Given the description of an element on the screen output the (x, y) to click on. 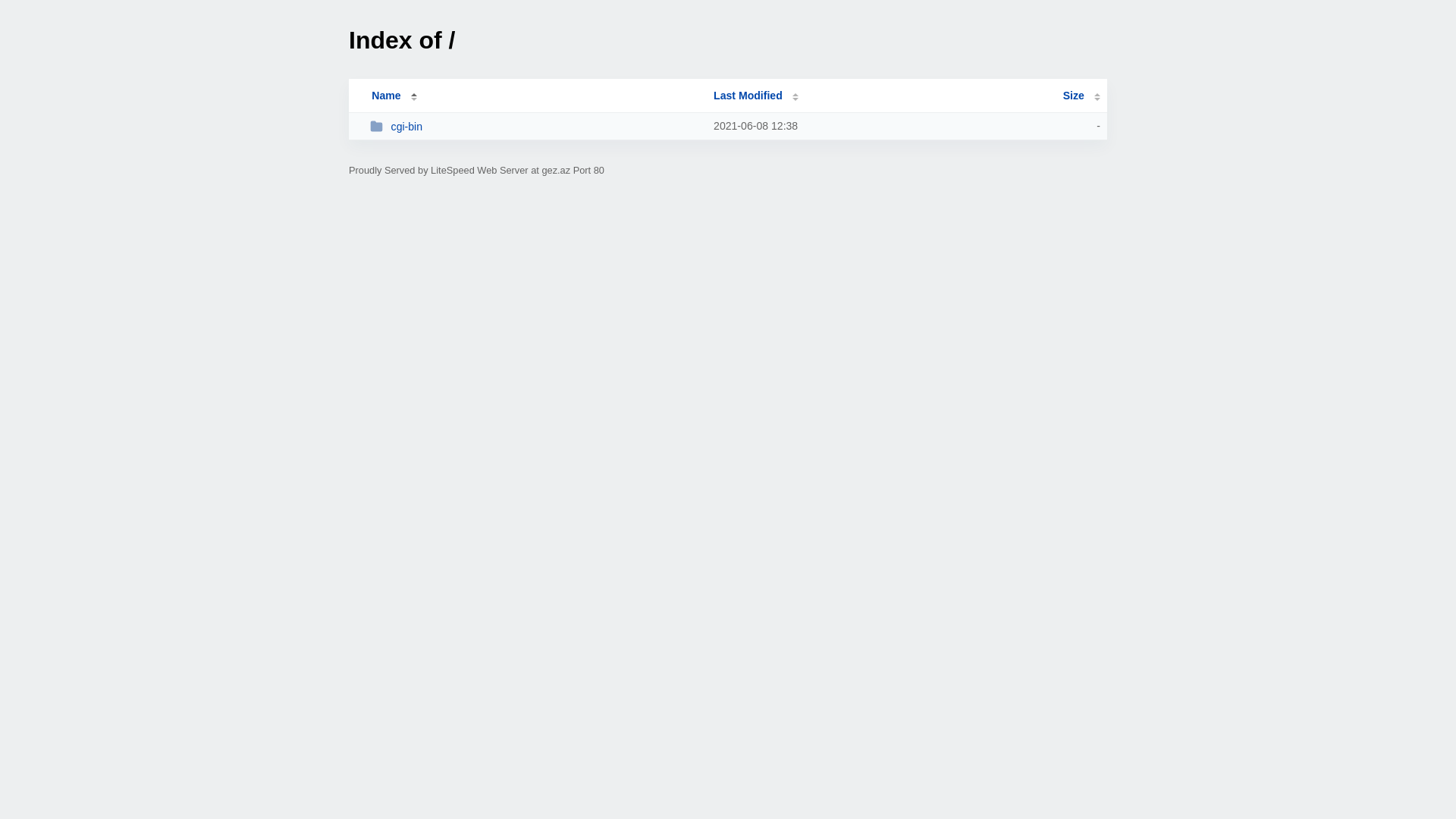
Last Modified Element type: text (755, 95)
cgi-bin Element type: text (534, 125)
Name Element type: text (385, 95)
Size Element type: text (1081, 95)
